Given the description of an element on the screen output the (x, y) to click on. 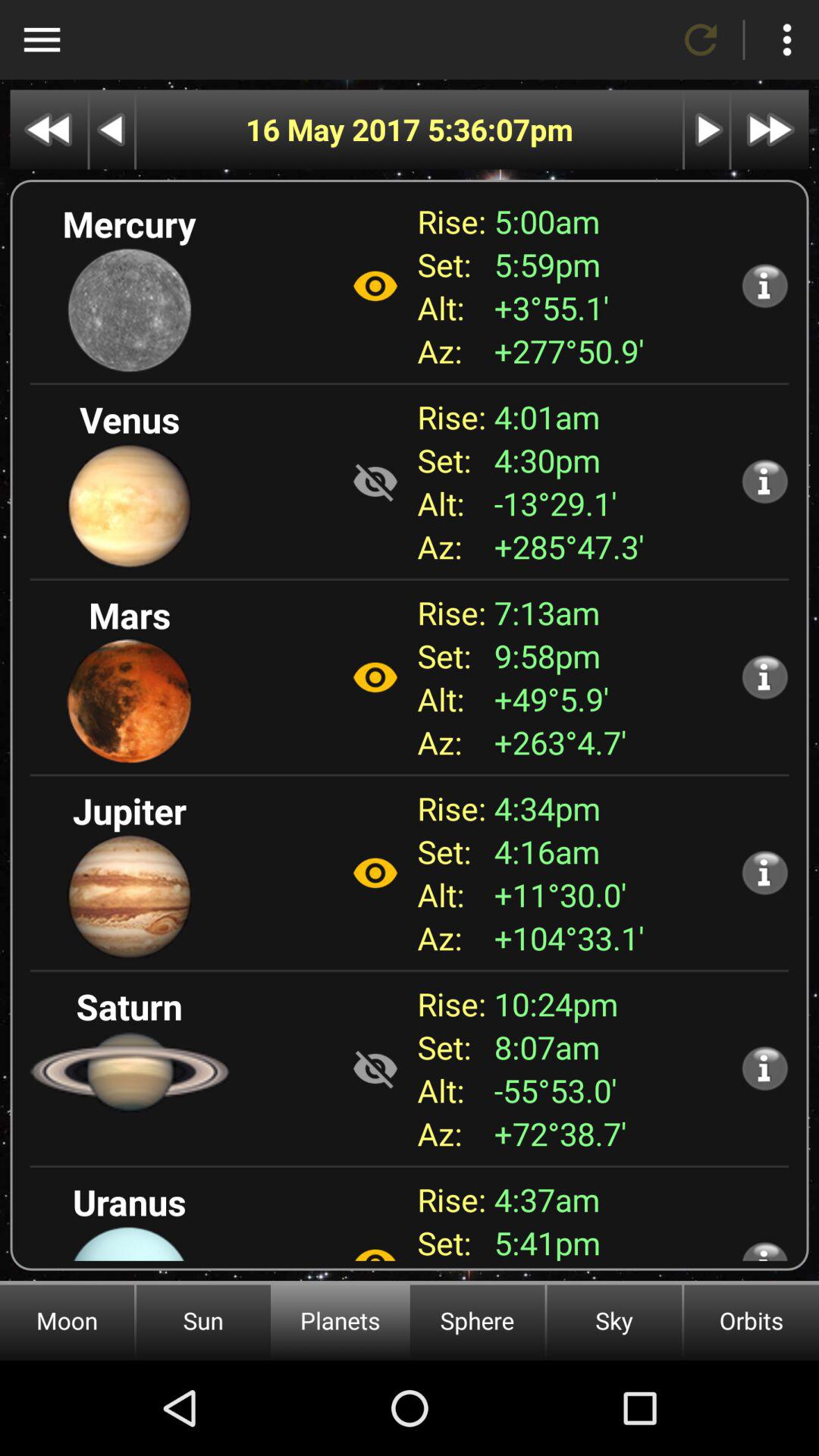
go to next (706, 129)
